Given the description of an element on the screen output the (x, y) to click on. 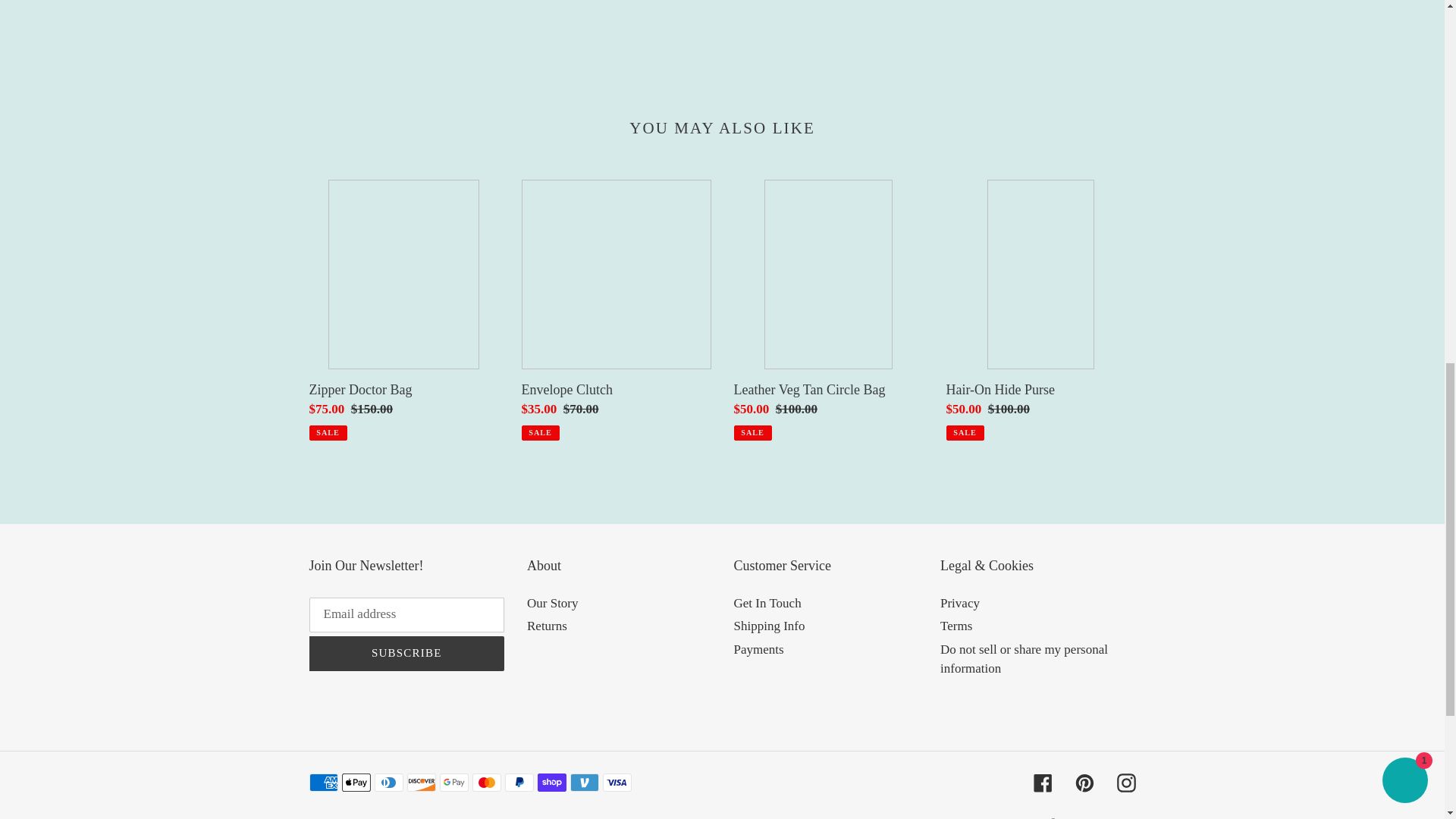
Envelope Clutch (616, 309)
Zipper Doctor Bag (403, 309)
Get In Touch (767, 603)
Our Story (552, 603)
Returns (547, 626)
Payments (758, 649)
Hair-On Hide Purse (1040, 309)
SUBSCRIBE (406, 653)
Leather Veg Tan Circle Bag (828, 309)
Shipping Info (769, 626)
